Given the description of an element on the screen output the (x, y) to click on. 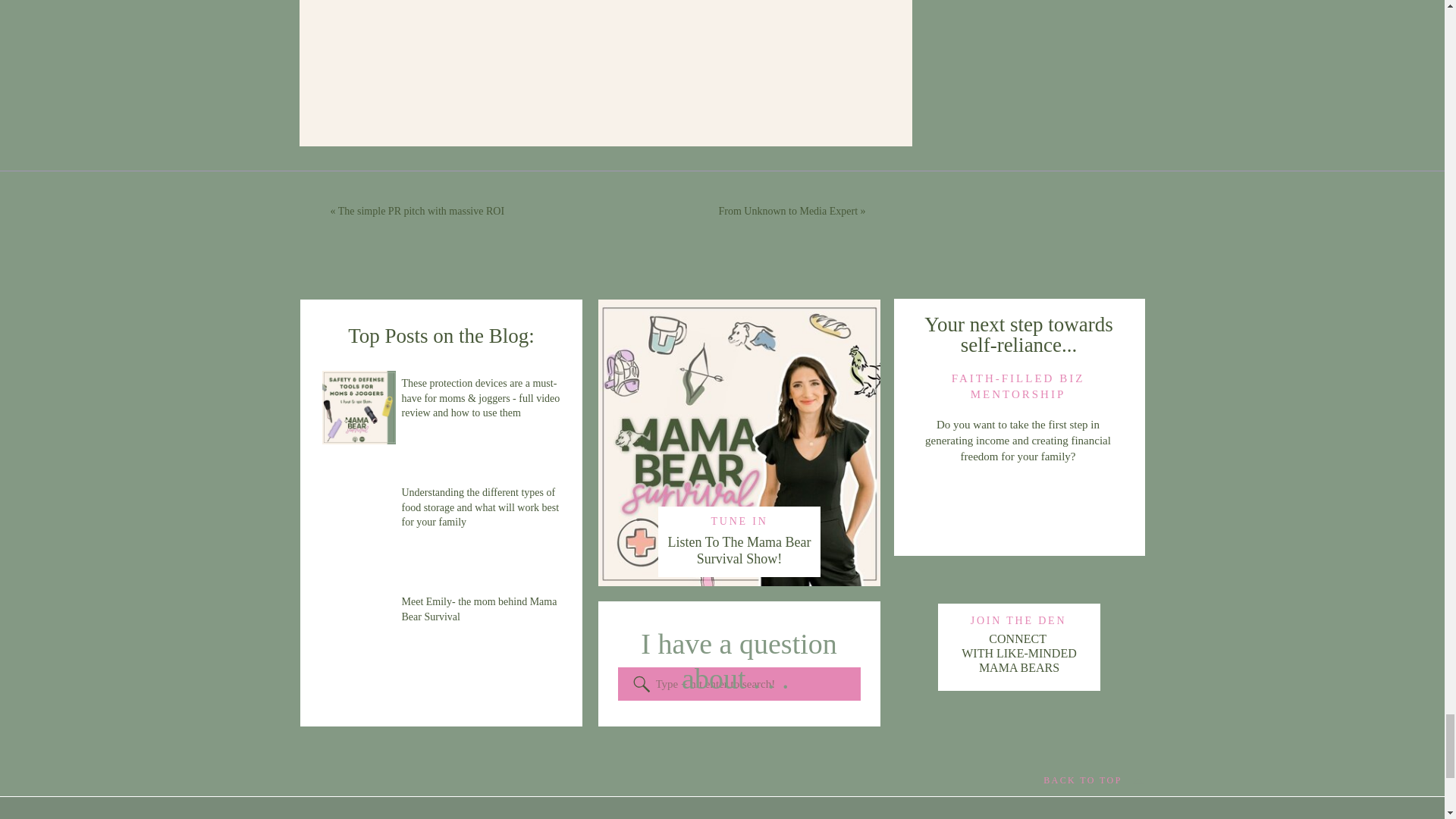
From Unknown to Media Expert (789, 211)
BACK TO TOP (1082, 780)
JOIN THE DEN (1017, 620)
The simple PR pitch with massive ROI (420, 211)
TELL ME MORE (1018, 647)
Listen To The Mama Bear Survival Show! (1018, 505)
Meet Emily- the mom behind Mama Bear Survival  (739, 555)
